Given the description of an element on the screen output the (x, y) to click on. 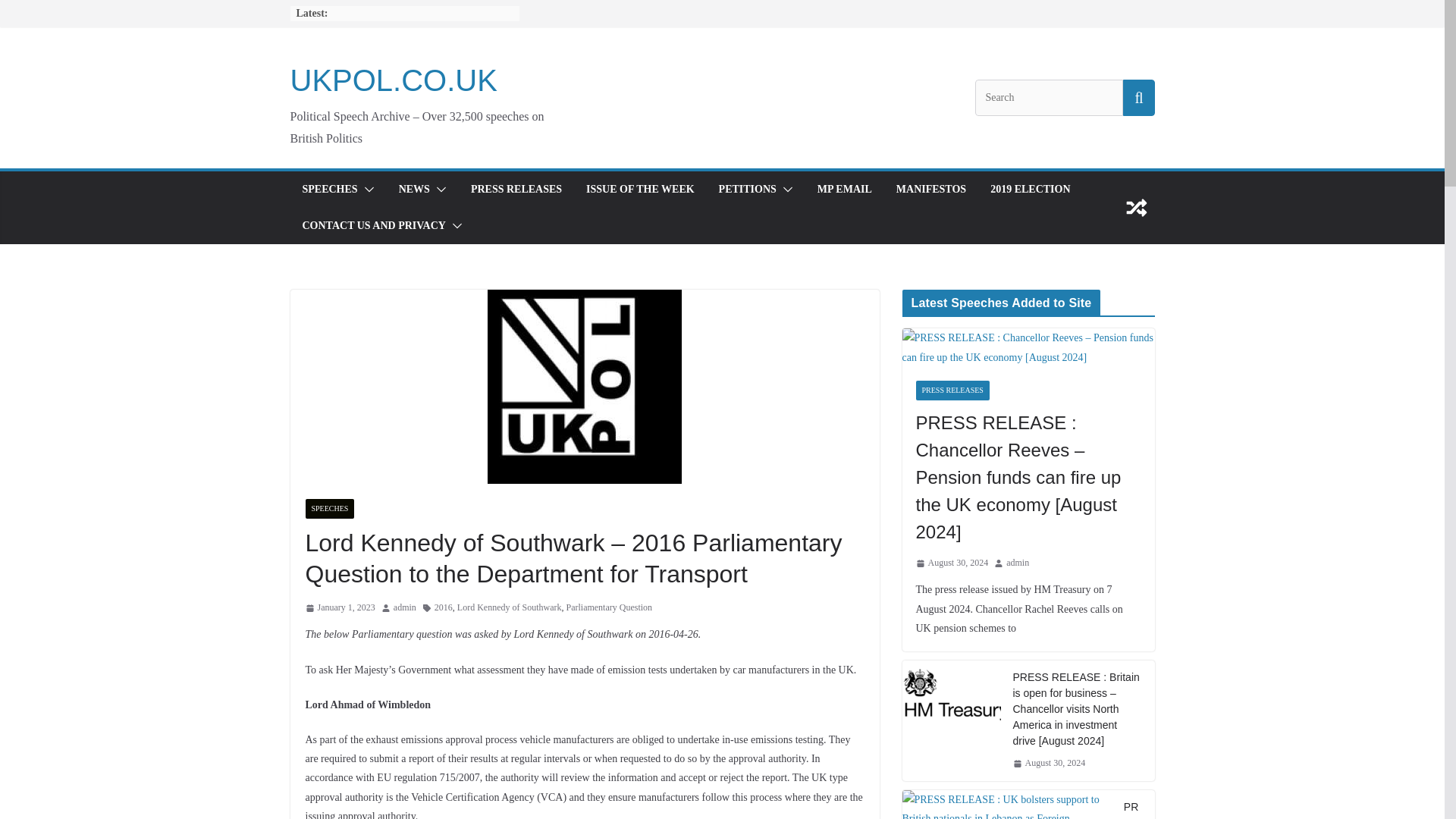
January 1, 2023 (339, 607)
PETITIONS (747, 189)
SPEECHES (328, 189)
MP EMAIL (844, 189)
admin (404, 607)
UKPOL.CO.UK (392, 80)
2016 (442, 607)
Parliamentary Question (609, 607)
NEWS (413, 189)
UKPOL.CO.UK (392, 80)
